Given the description of an element on the screen output the (x, y) to click on. 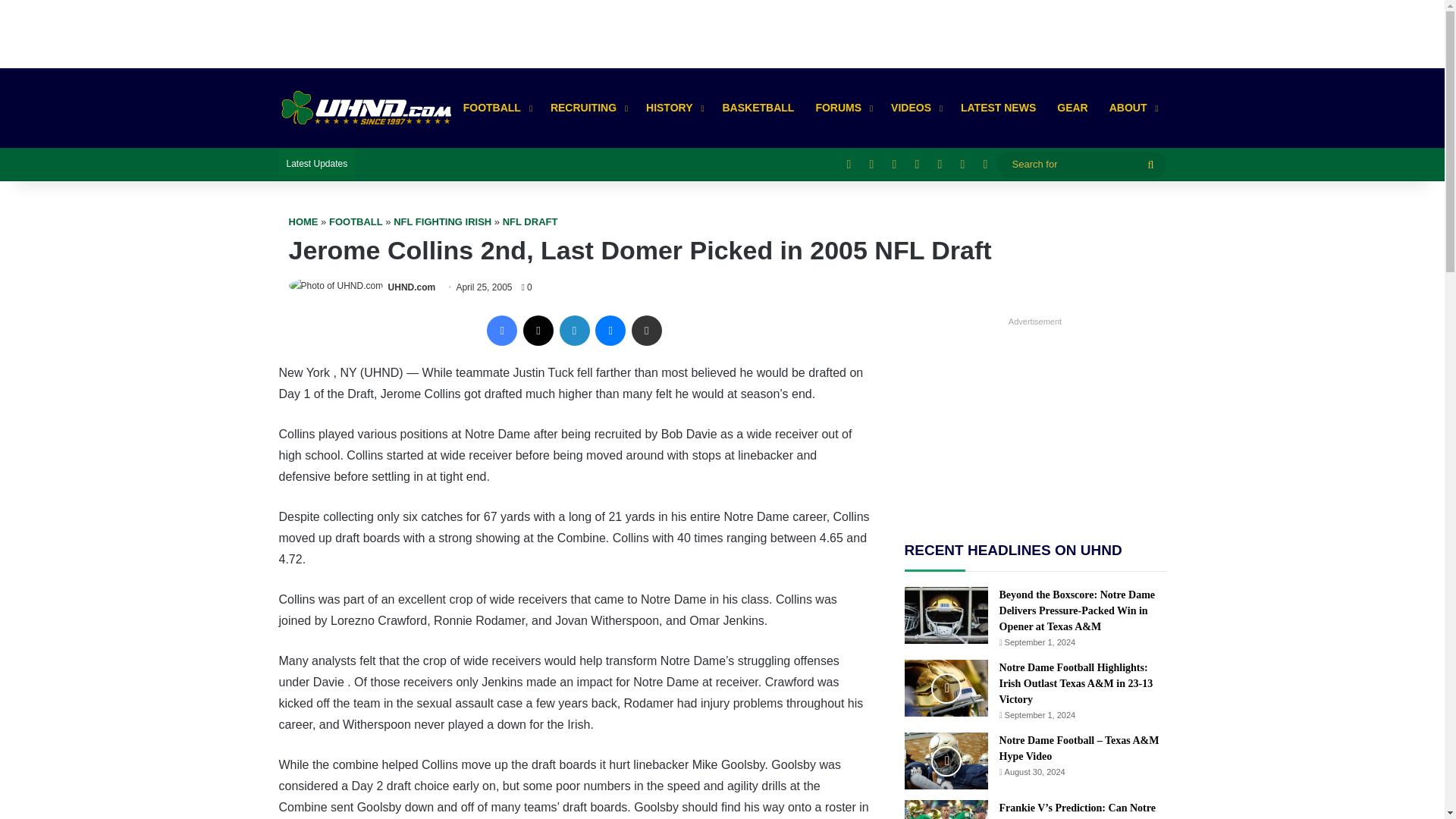
Search for (1080, 163)
Messenger (610, 330)
RECRUITING (587, 107)
HISTORY (672, 107)
X (537, 330)
FOOTBALL (496, 107)
Facebook (501, 330)
BASKETBALL (758, 107)
FORUMS (842, 107)
Share via Email (646, 330)
